Given the description of an element on the screen output the (x, y) to click on. 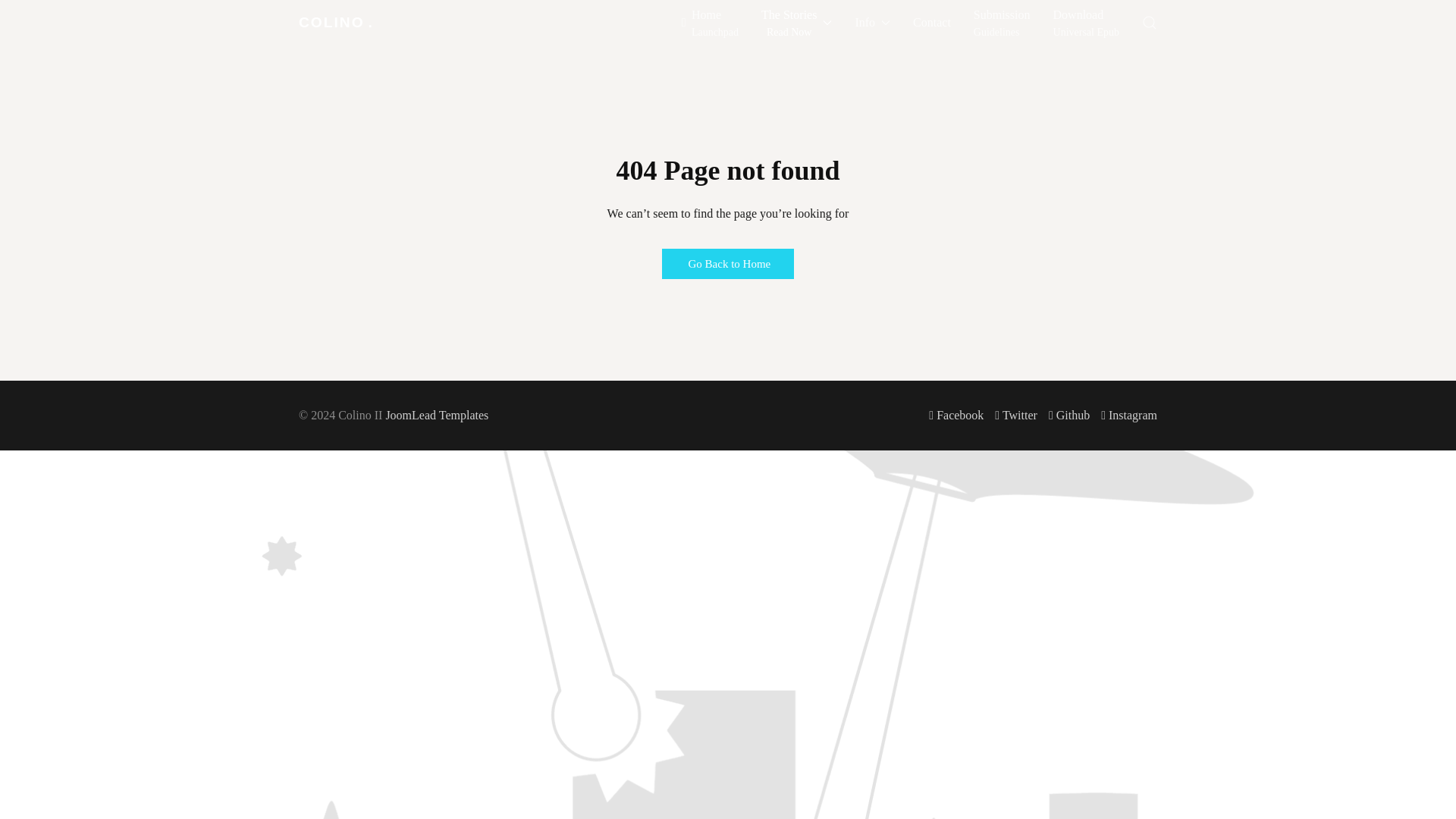
Search Icon (1085, 22)
Github (1149, 22)
JoomLead Templates (1068, 414)
Colino. (709, 22)
Instagram (436, 414)
Twitter (1002, 22)
